Given the description of an element on the screen output the (x, y) to click on. 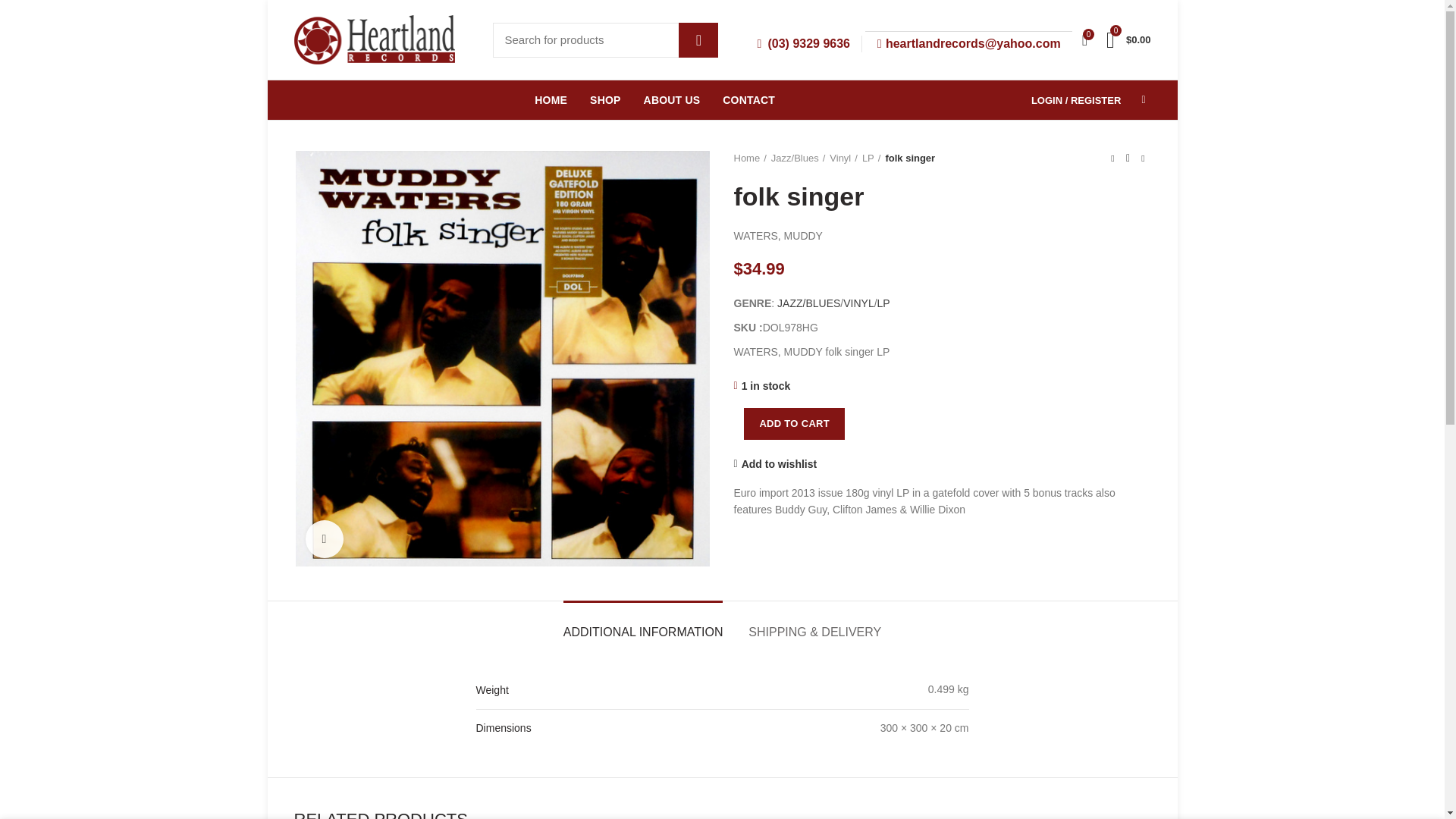
SEARCH (697, 39)
LP (870, 158)
Vinyl (843, 158)
Previous product (1113, 158)
VINYL (858, 303)
Next product (1143, 158)
HOME (550, 99)
My account (1075, 99)
Home (750, 158)
SHOP (604, 99)
ABOUT US (671, 99)
LP (883, 303)
Shopping cart (1128, 39)
CONTACT (748, 99)
